Given the description of an element on the screen output the (x, y) to click on. 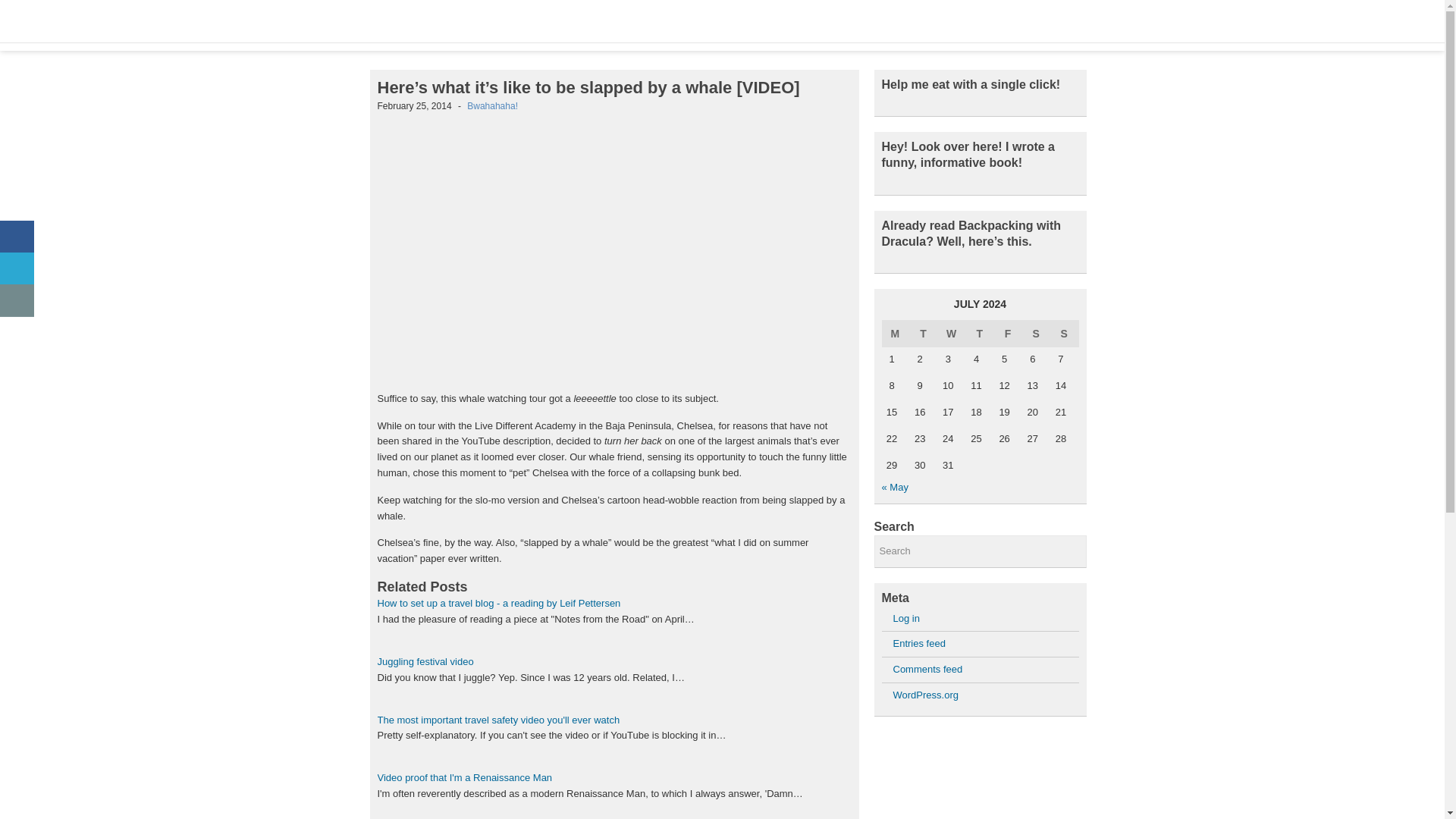
Juggling festival video (425, 661)
The most important travel safety video you'll ever watch (498, 719)
Search (979, 551)
Entries feed (918, 643)
Friday (1008, 333)
Share On Twitter (16, 268)
Tuesday (923, 333)
Thursday (980, 333)
Saturday (1035, 333)
Monday (894, 333)
Search (979, 551)
How to set up a travel blog - a reading by Leif Pettersen (499, 603)
Wednesday (951, 333)
Comments feed (927, 668)
